Given the description of an element on the screen output the (x, y) to click on. 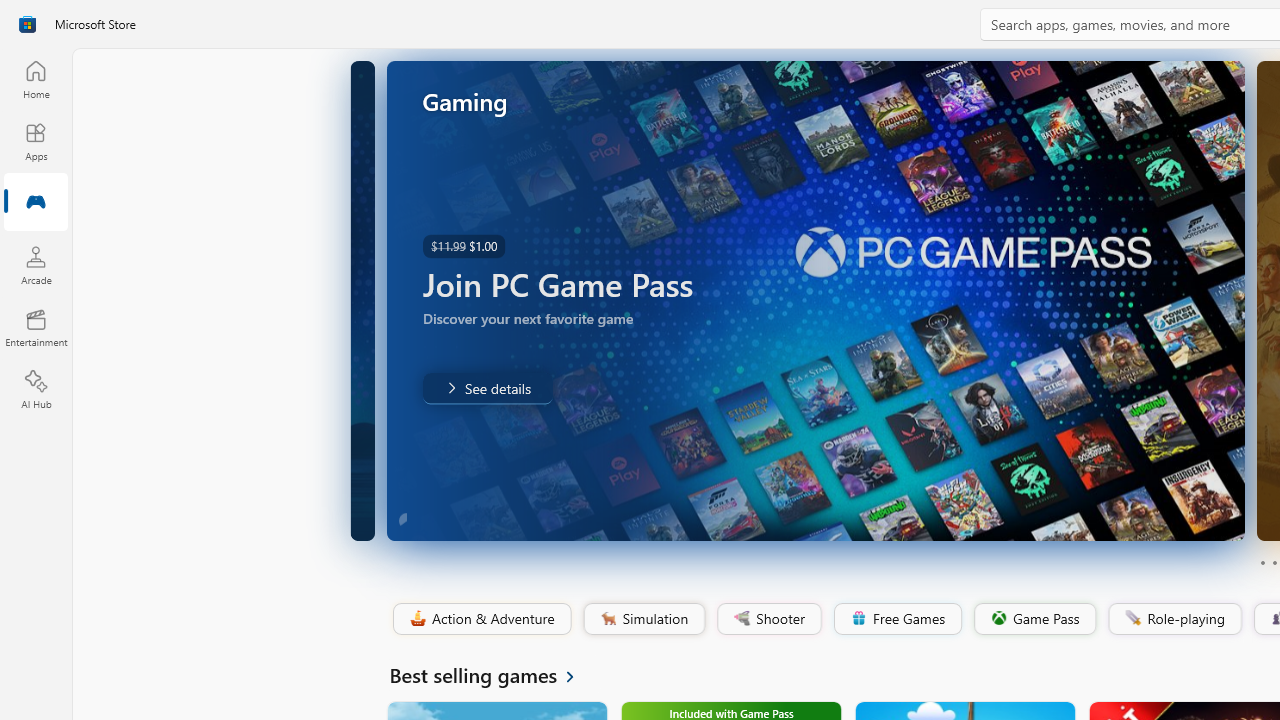
Shooter (767, 619)
